Given the description of an element on the screen output the (x, y) to click on. 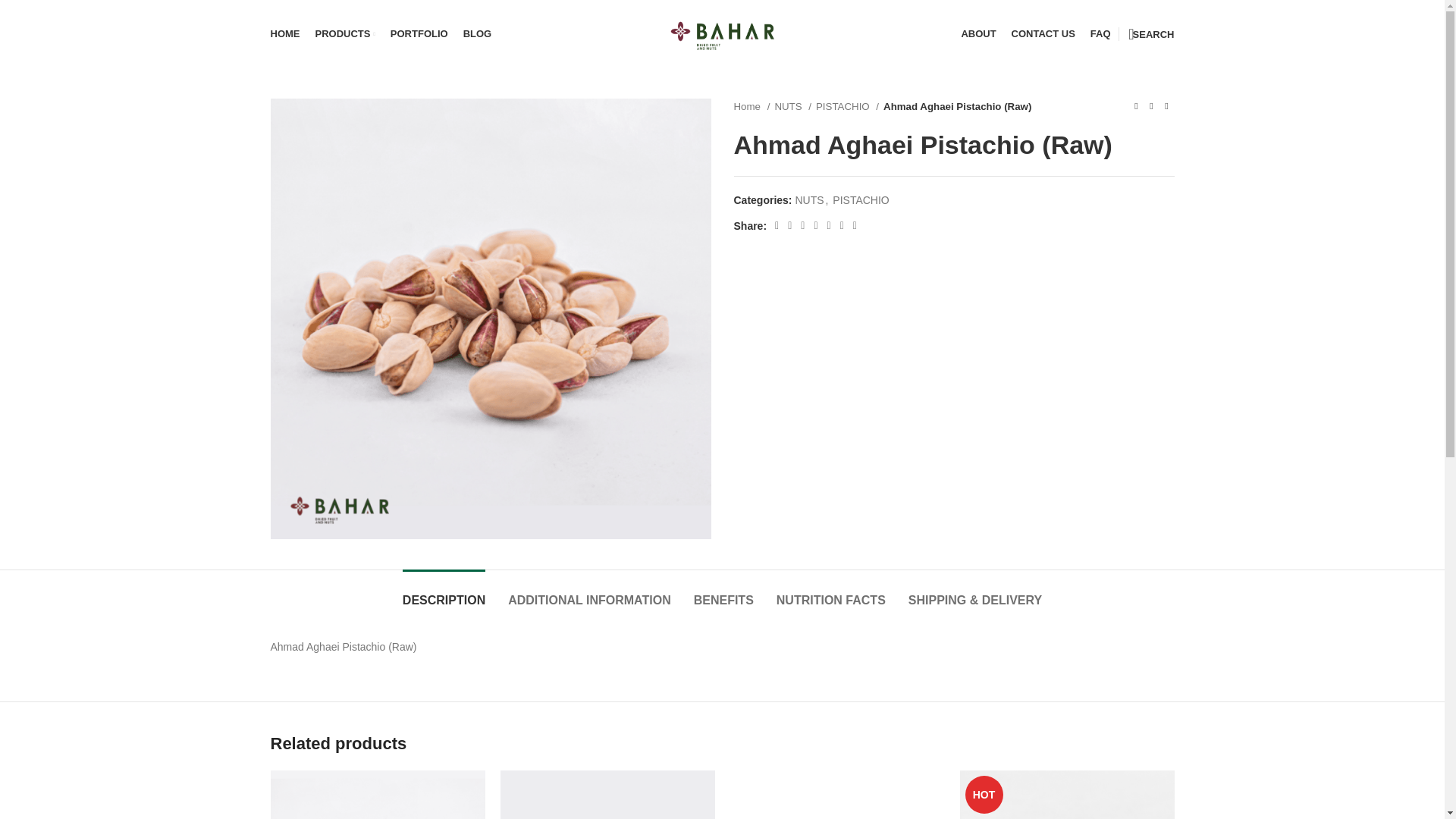
BLOG (477, 33)
Search (1150, 33)
PRODUCTS (345, 33)
SEARCH (1150, 33)
ABOUT (977, 33)
PORTFOLIO (419, 33)
CONTACT US (1043, 33)
HOME (722, 33)
